Given the description of an element on the screen output the (x, y) to click on. 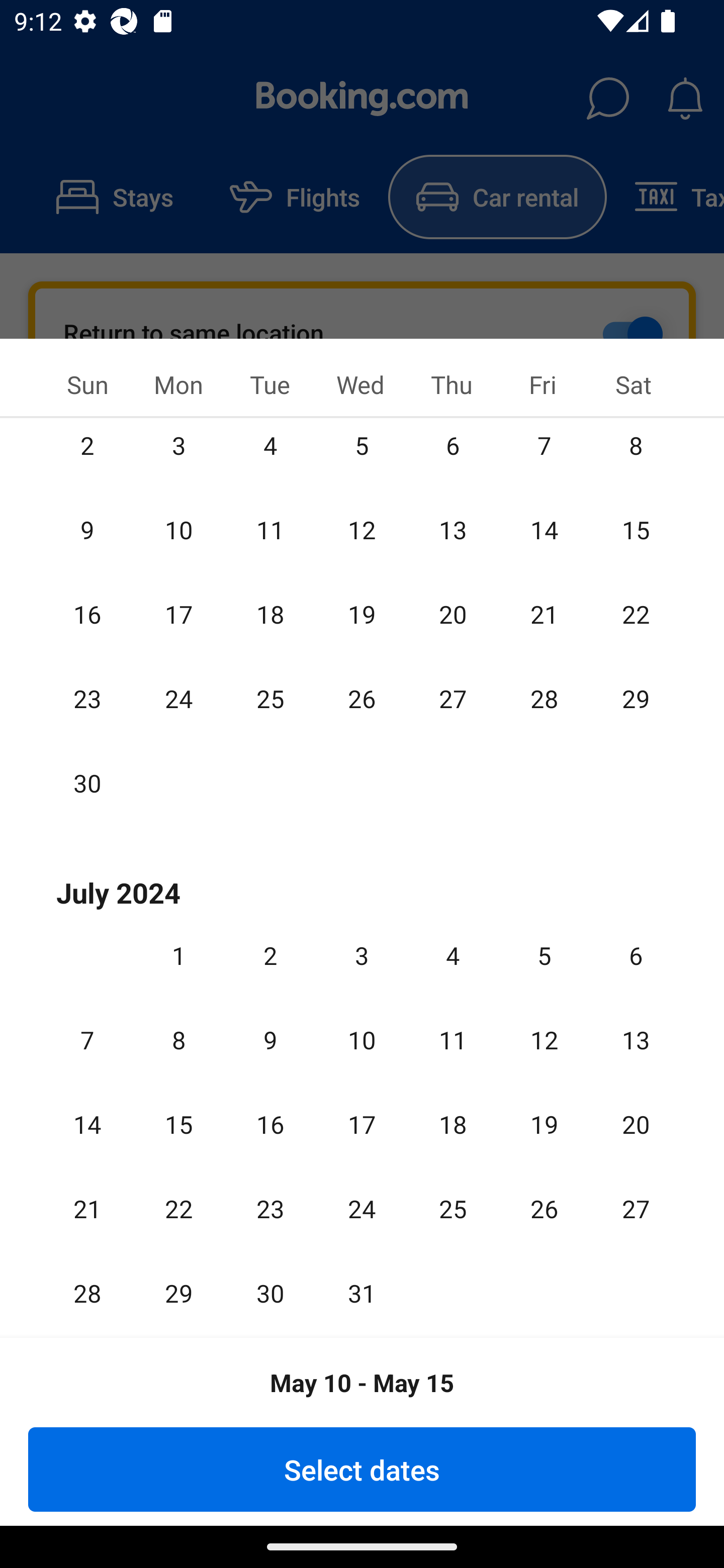
Select dates (361, 1468)
